Given the description of an element on the screen output the (x, y) to click on. 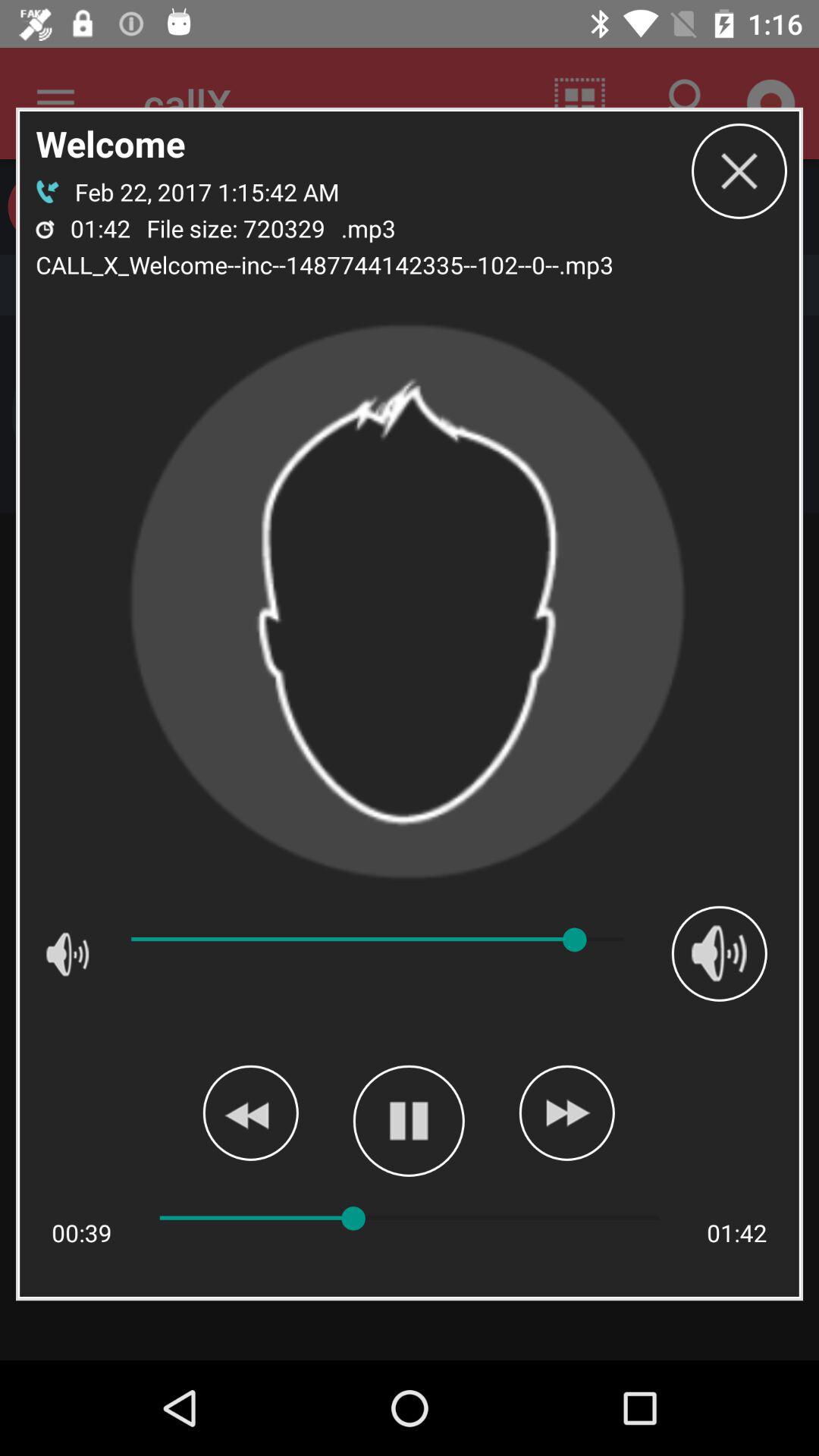
back button (250, 1112)
